Given the description of an element on the screen output the (x, y) to click on. 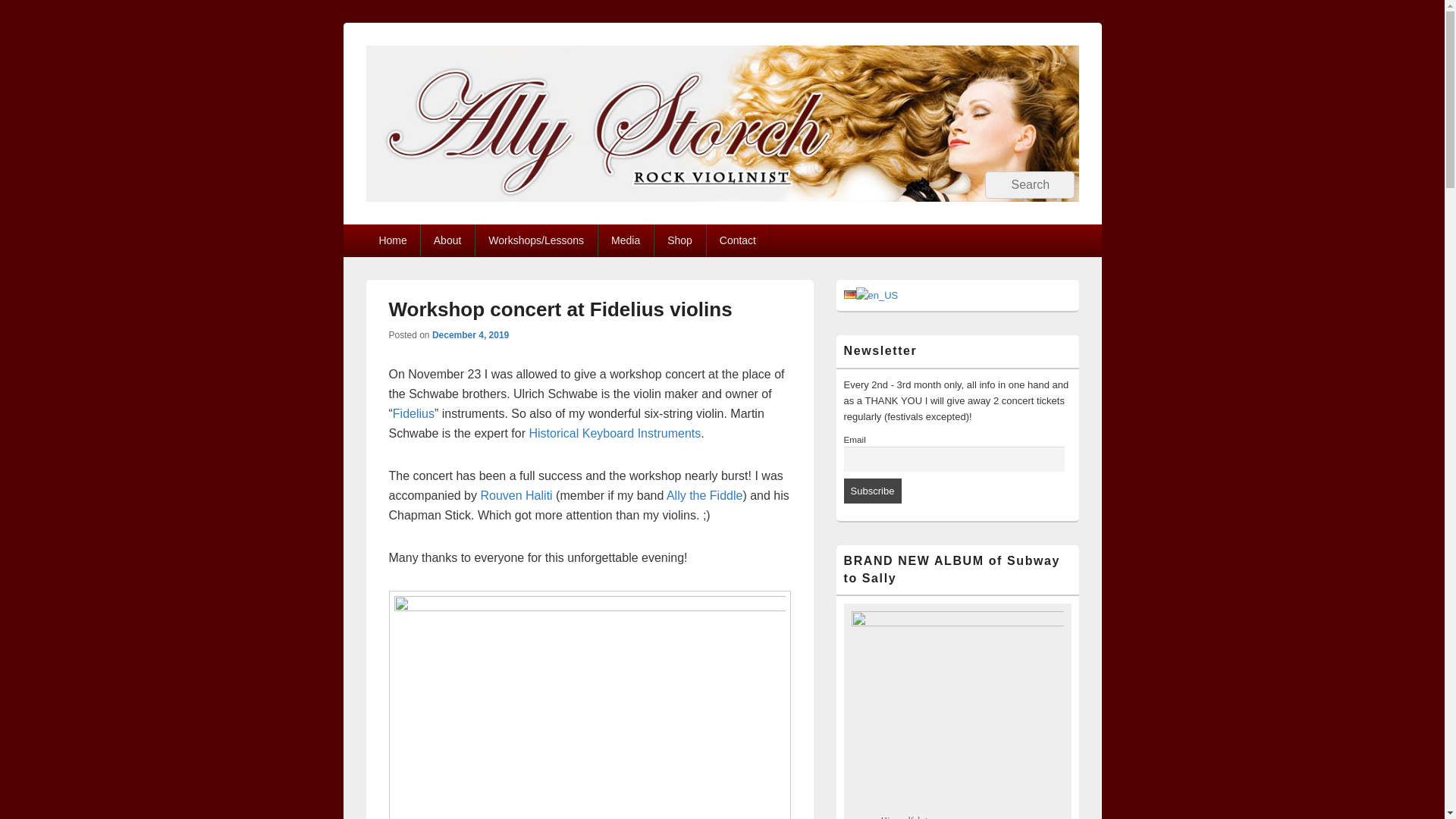
Historical Keyboard Instruments (614, 432)
Shop (678, 240)
About (447, 240)
Subscribe (872, 490)
English (877, 295)
Home (392, 240)
Rouven Haliti (515, 495)
Ally the Fiddle (704, 495)
Fidelius (413, 413)
Contact (737, 240)
